Given the description of an element on the screen output the (x, y) to click on. 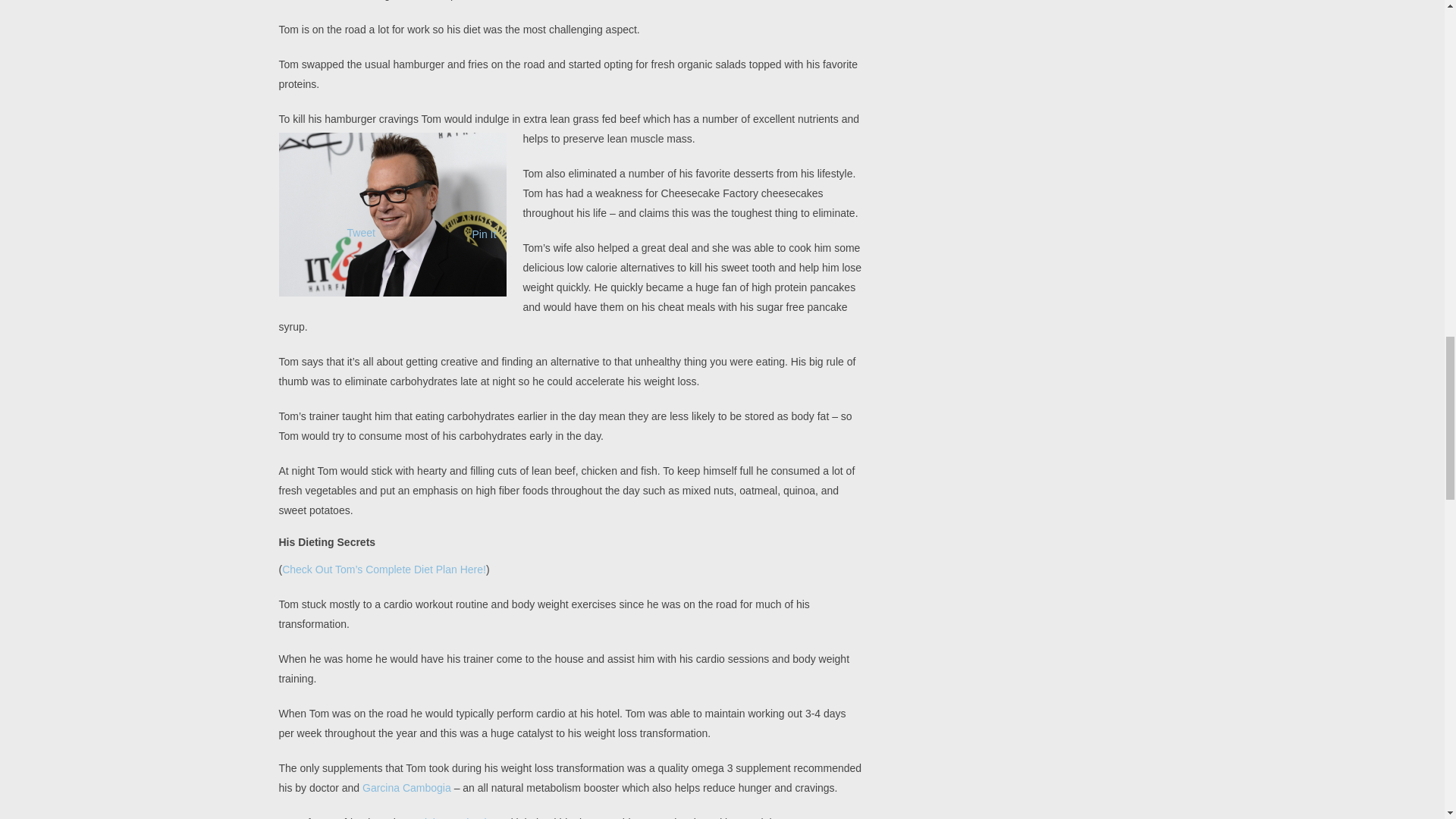
Garcina Cambogia (406, 787)
Garcinia Cambogia (447, 817)
